Given the description of an element on the screen output the (x, y) to click on. 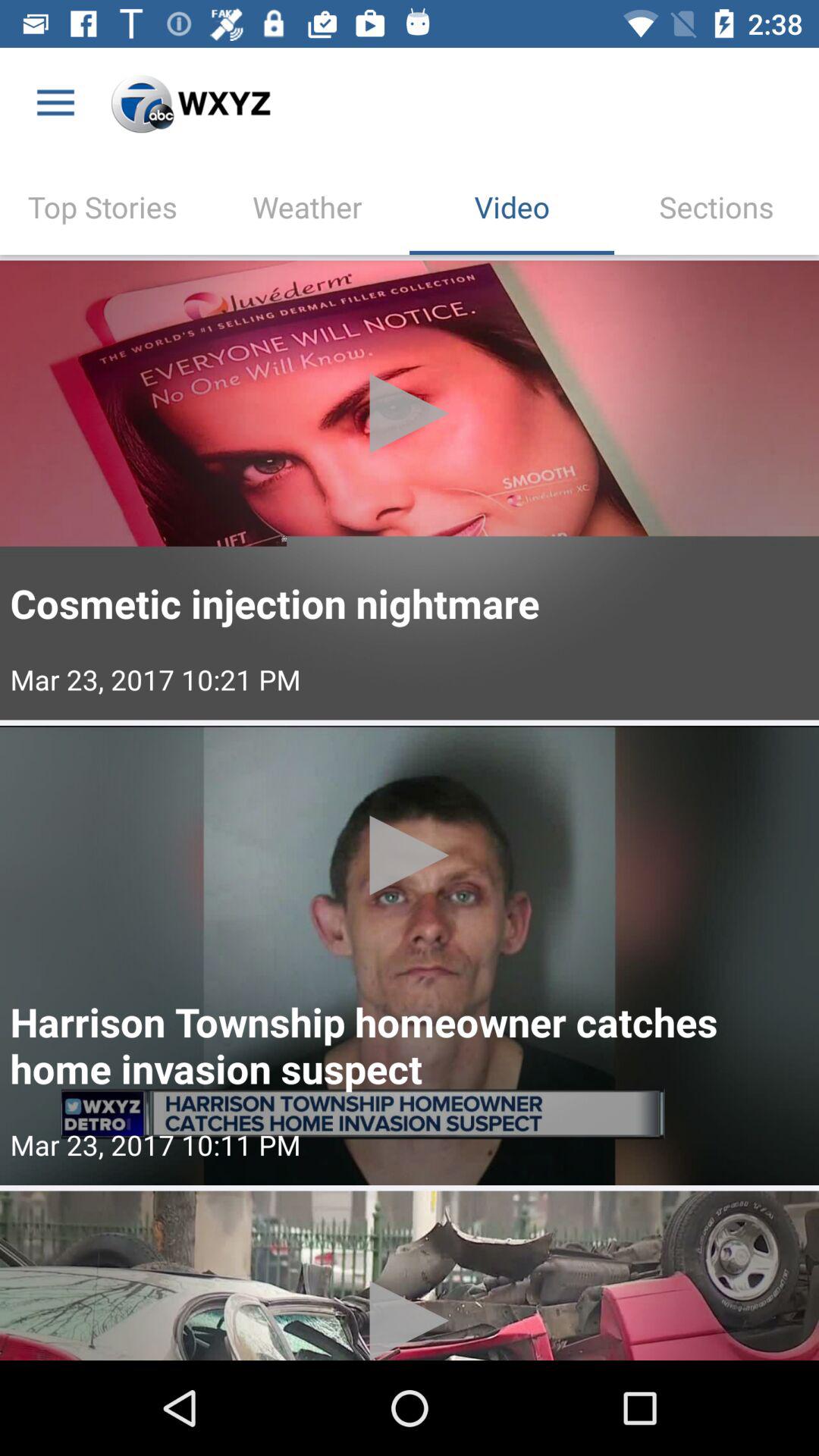
play video (409, 490)
